Given the description of an element on the screen output the (x, y) to click on. 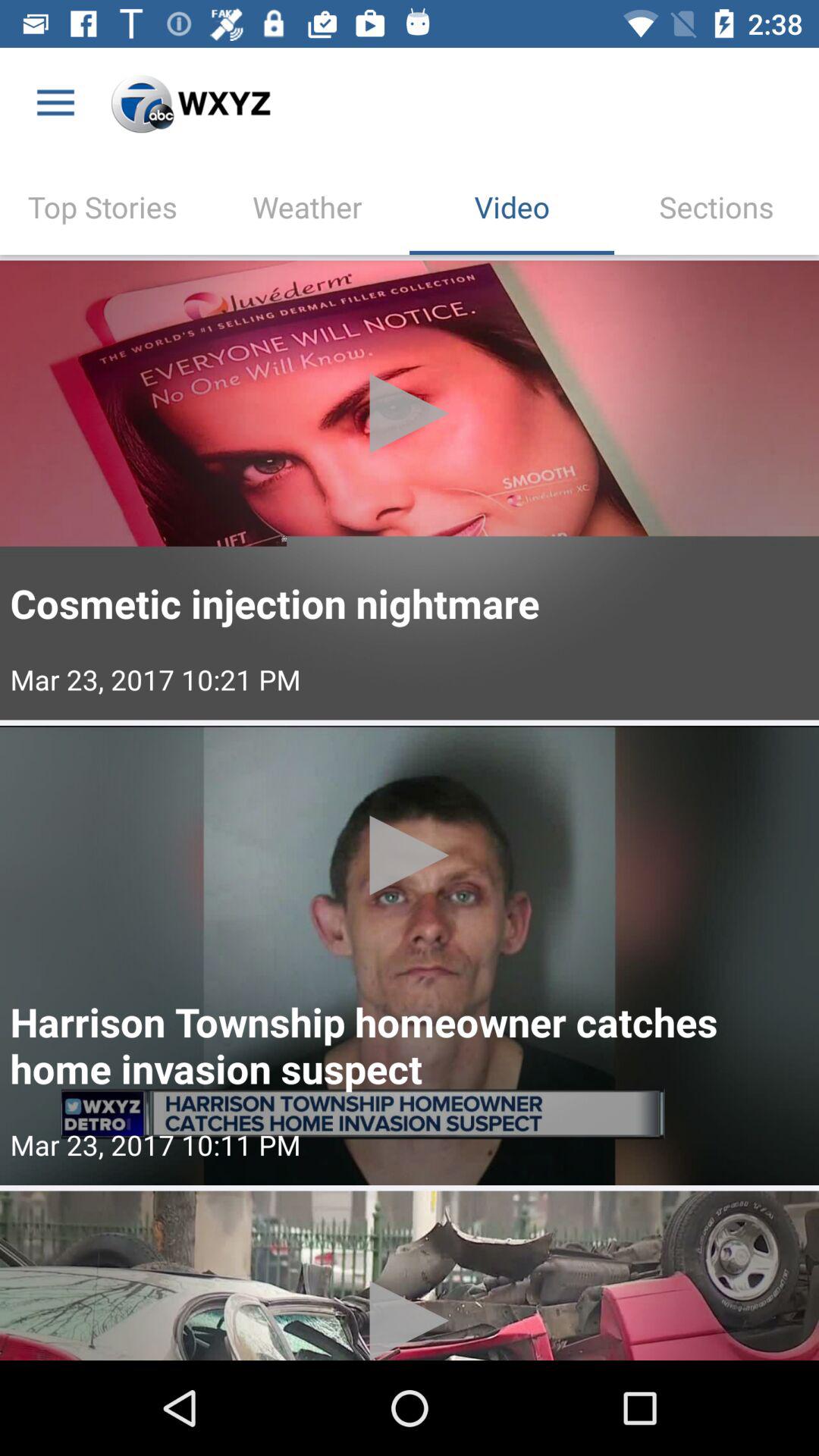
play video (409, 490)
